Given the description of an element on the screen output the (x, y) to click on. 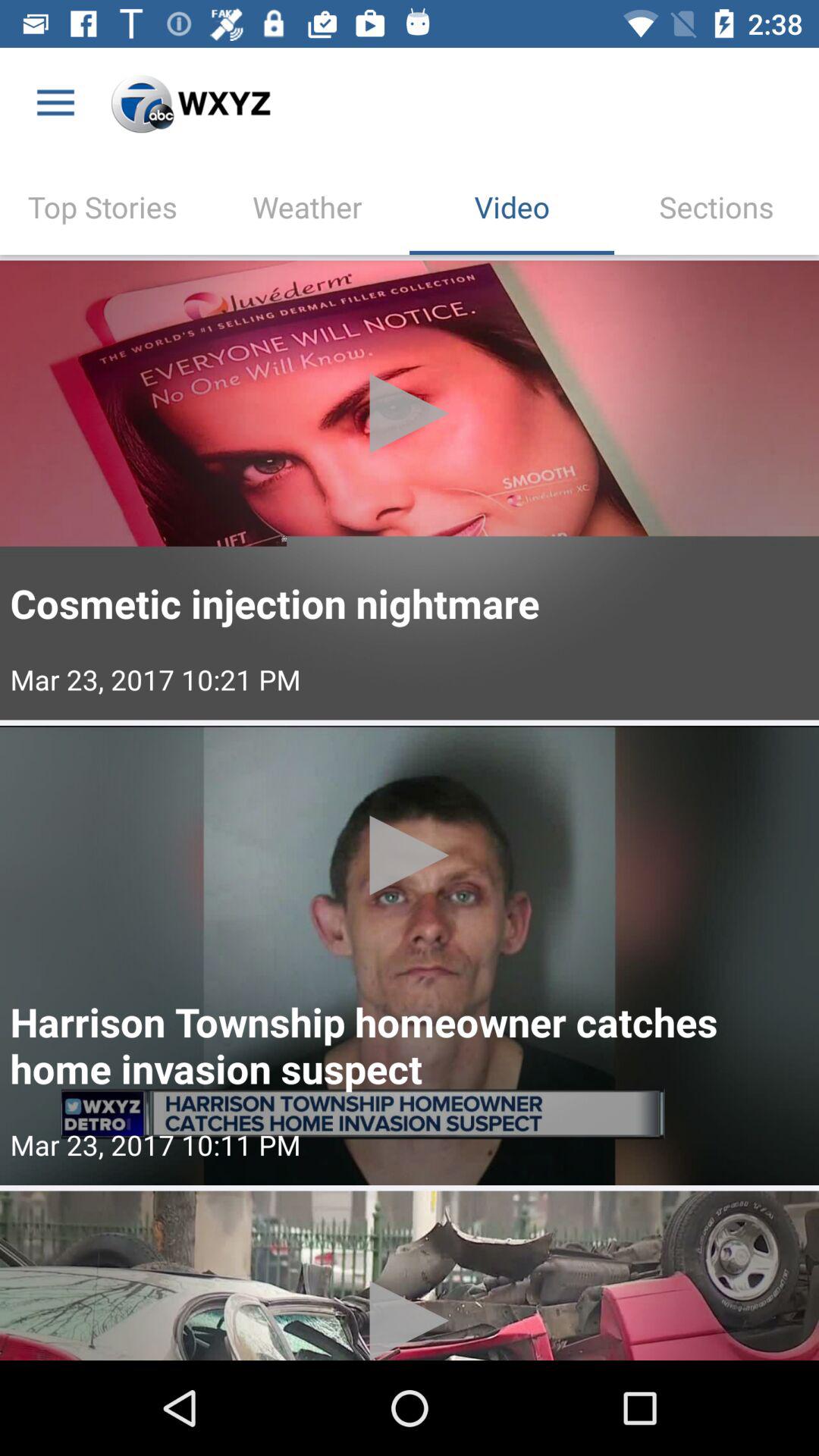
play video (409, 490)
